Given the description of an element on the screen output the (x, y) to click on. 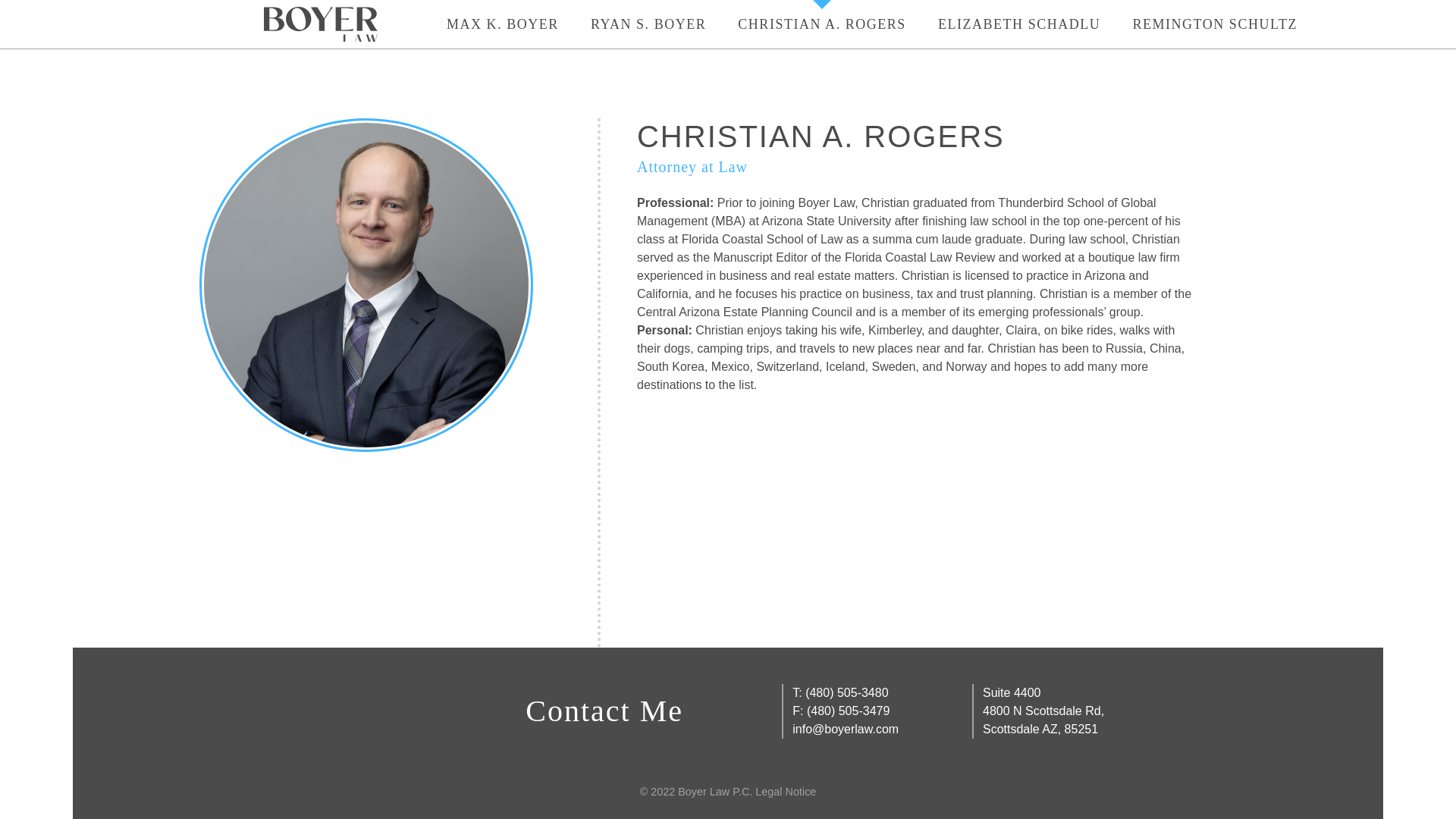
MAX K. BOYER (502, 24)
REMINGTON SCHULTZ (1042, 719)
ELIZABETH SCHADLU (1211, 24)
BOYER LAW (1019, 24)
CHRISTIAN A. ROGERS (320, 24)
RYAN S. BOYER (822, 24)
